Given the description of an element on the screen output the (x, y) to click on. 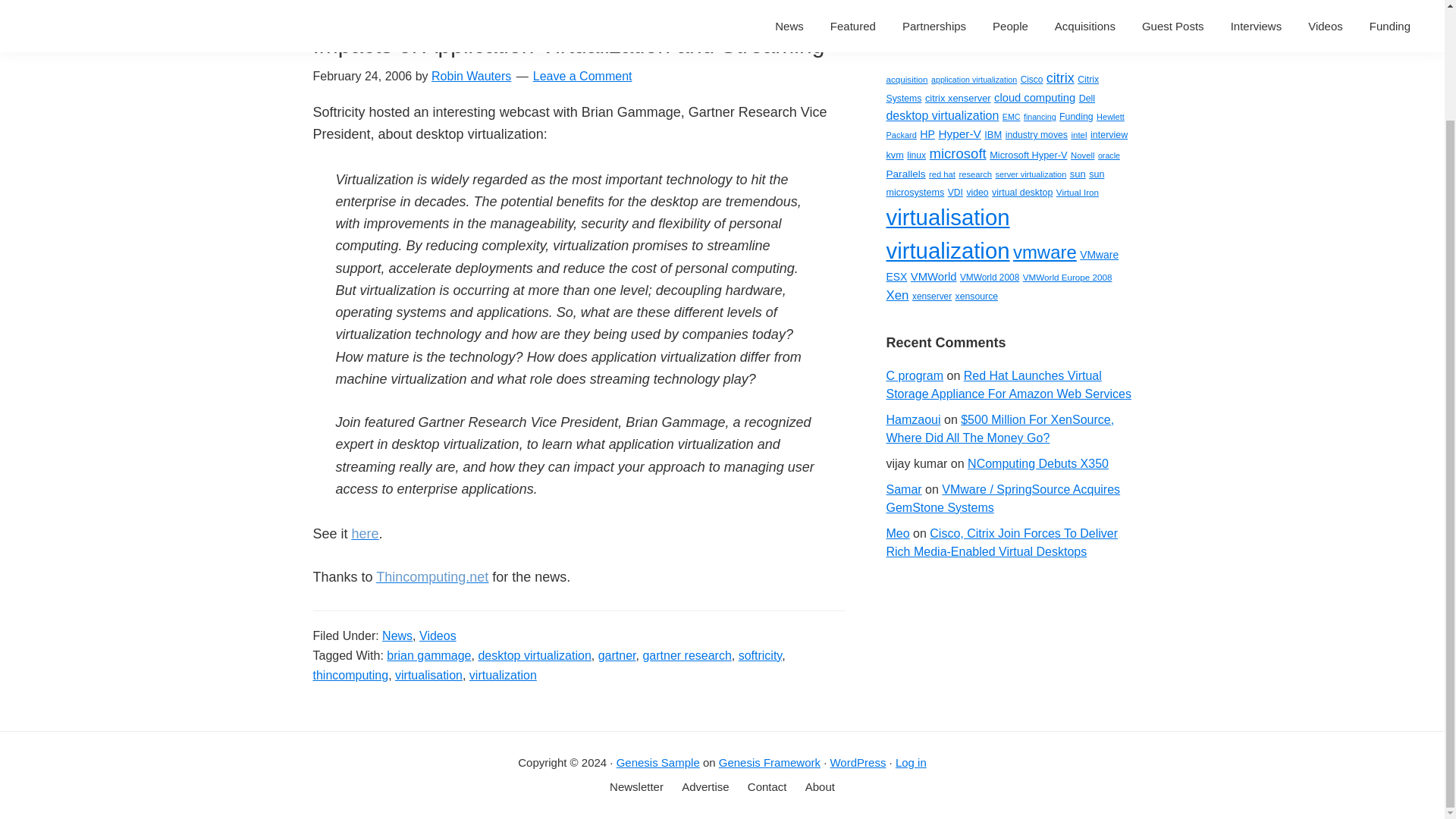
gartner research (686, 654)
News (396, 634)
Videos (438, 634)
here (365, 533)
Robin Wauters (470, 75)
desktop virtualization (941, 115)
financing (1040, 116)
softricity (759, 654)
acquisition (906, 79)
desktop virtualization (534, 654)
citrix (1060, 77)
Leave a Comment (581, 75)
cloud computing (1034, 97)
Thincomputing.net (431, 576)
application virtualization (973, 79)
